Given the description of an element on the screen output the (x, y) to click on. 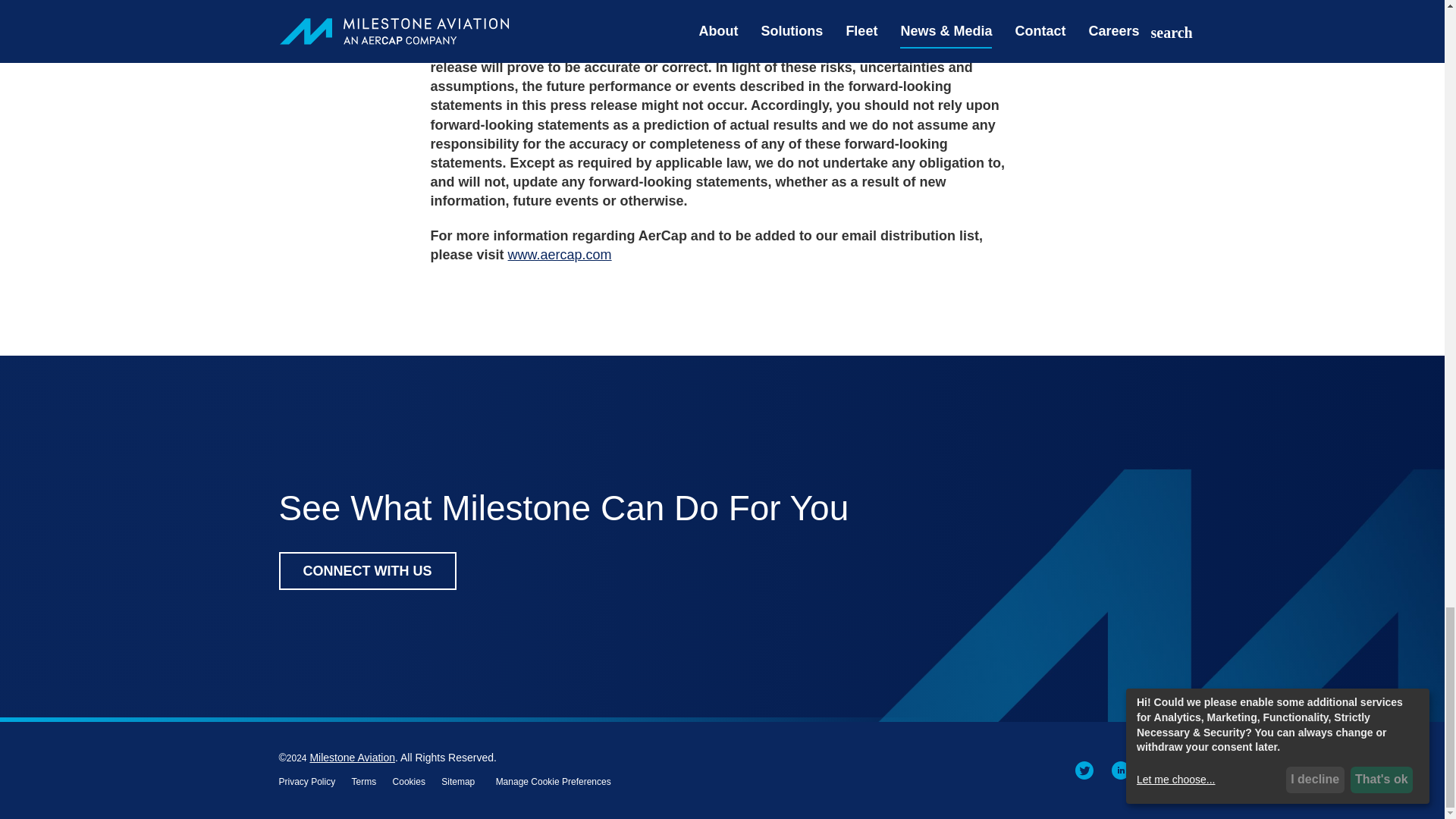
Manage Cookie Preferences (553, 781)
Opens in a new window (1157, 769)
Opens in a new window (307, 781)
Opens in a new window (559, 254)
Sitemap (457, 781)
Opens in a new window (1120, 769)
Opens in a new window (1084, 769)
Terms (364, 781)
Cookies (409, 781)
www.aercap.com (559, 254)
Opens in a new window (409, 781)
Privacy Policy (307, 781)
Opens in a new window (364, 781)
CONNECT WITH US (368, 570)
Milestone Aviation (351, 757)
